Given the description of an element on the screen output the (x, y) to click on. 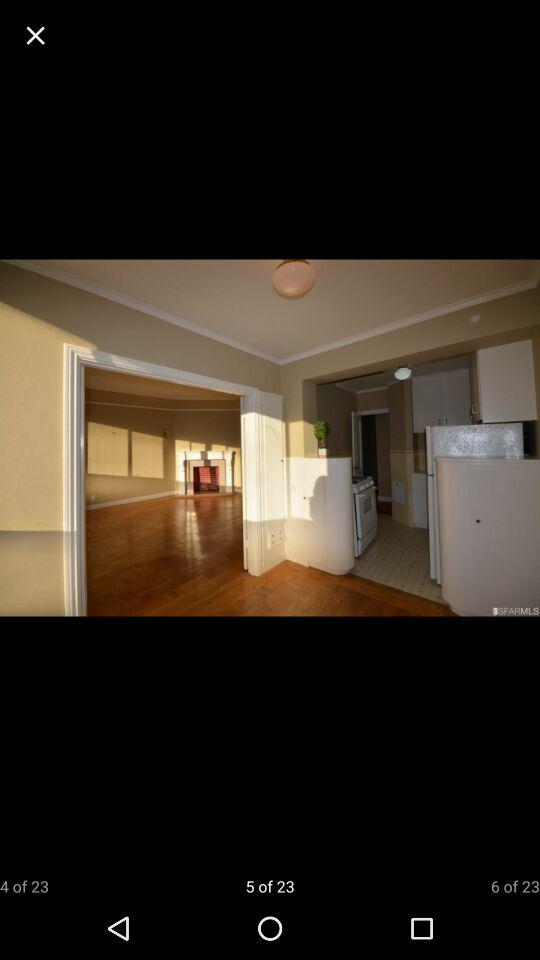
exit window (35, 35)
